Given the description of an element on the screen output the (x, y) to click on. 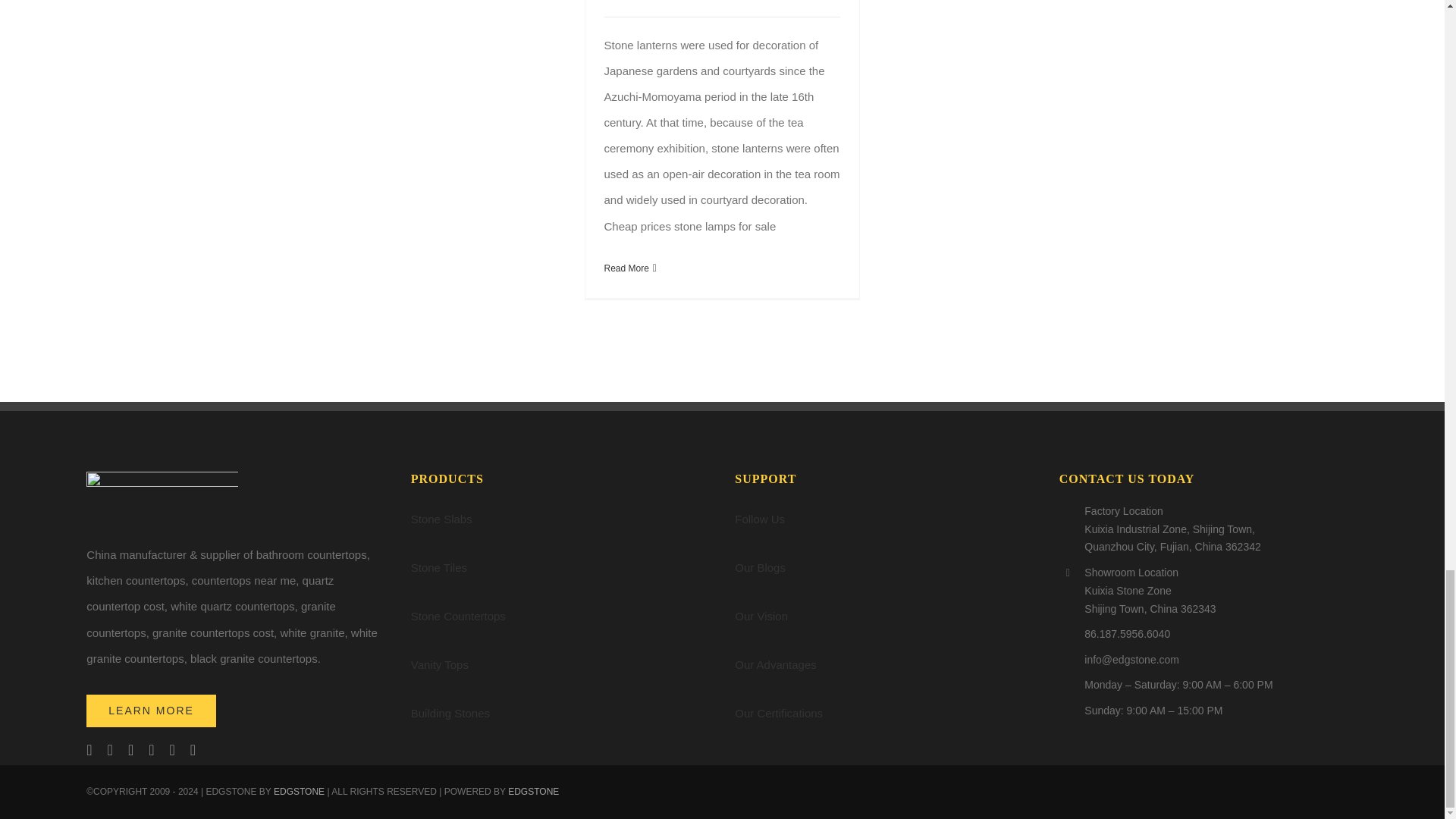
LOGO 3333333 (161, 499)
